Given the description of an element on the screen output the (x, y) to click on. 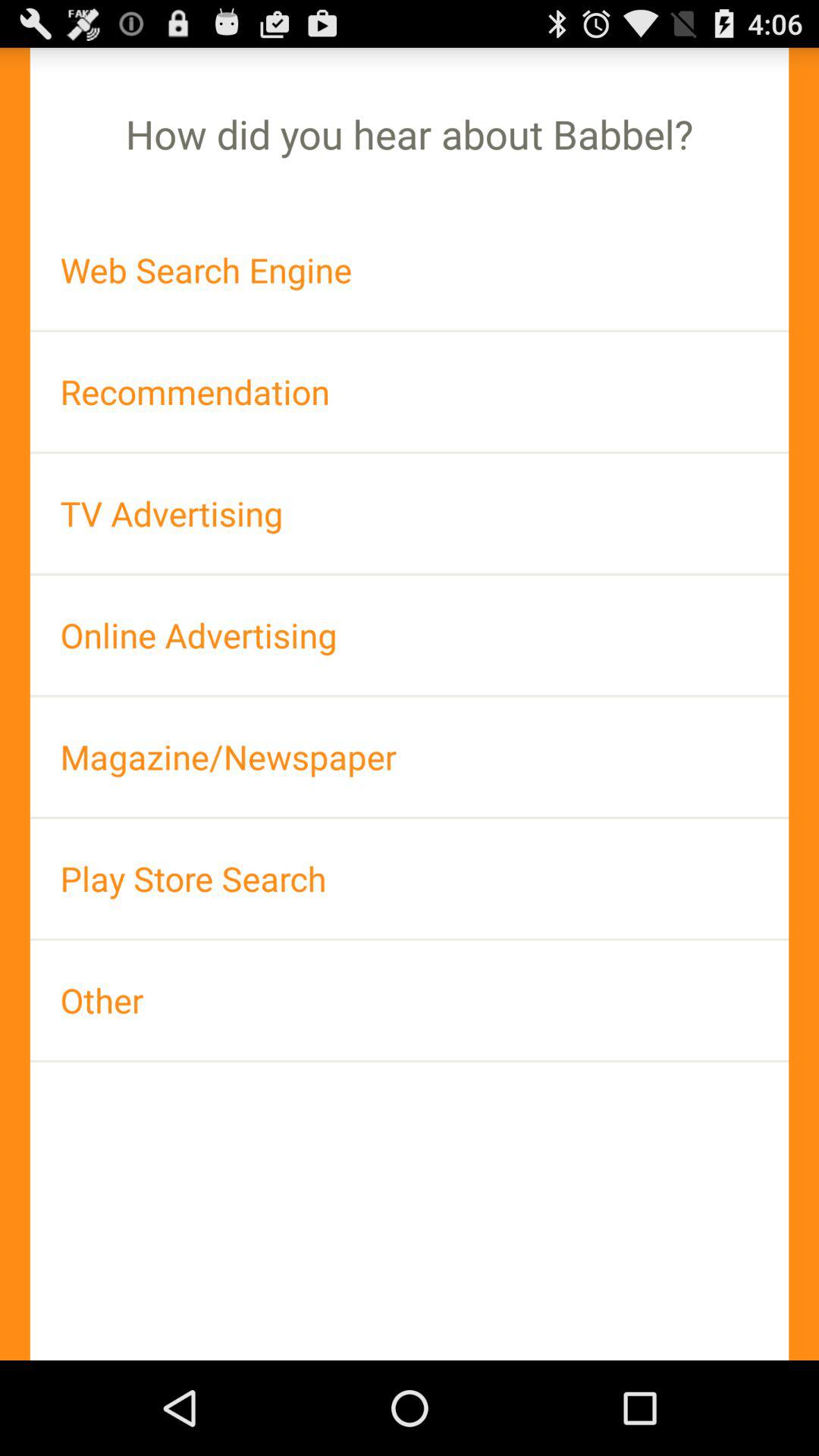
open the icon above the tv advertising icon (409, 391)
